Given the description of an element on the screen output the (x, y) to click on. 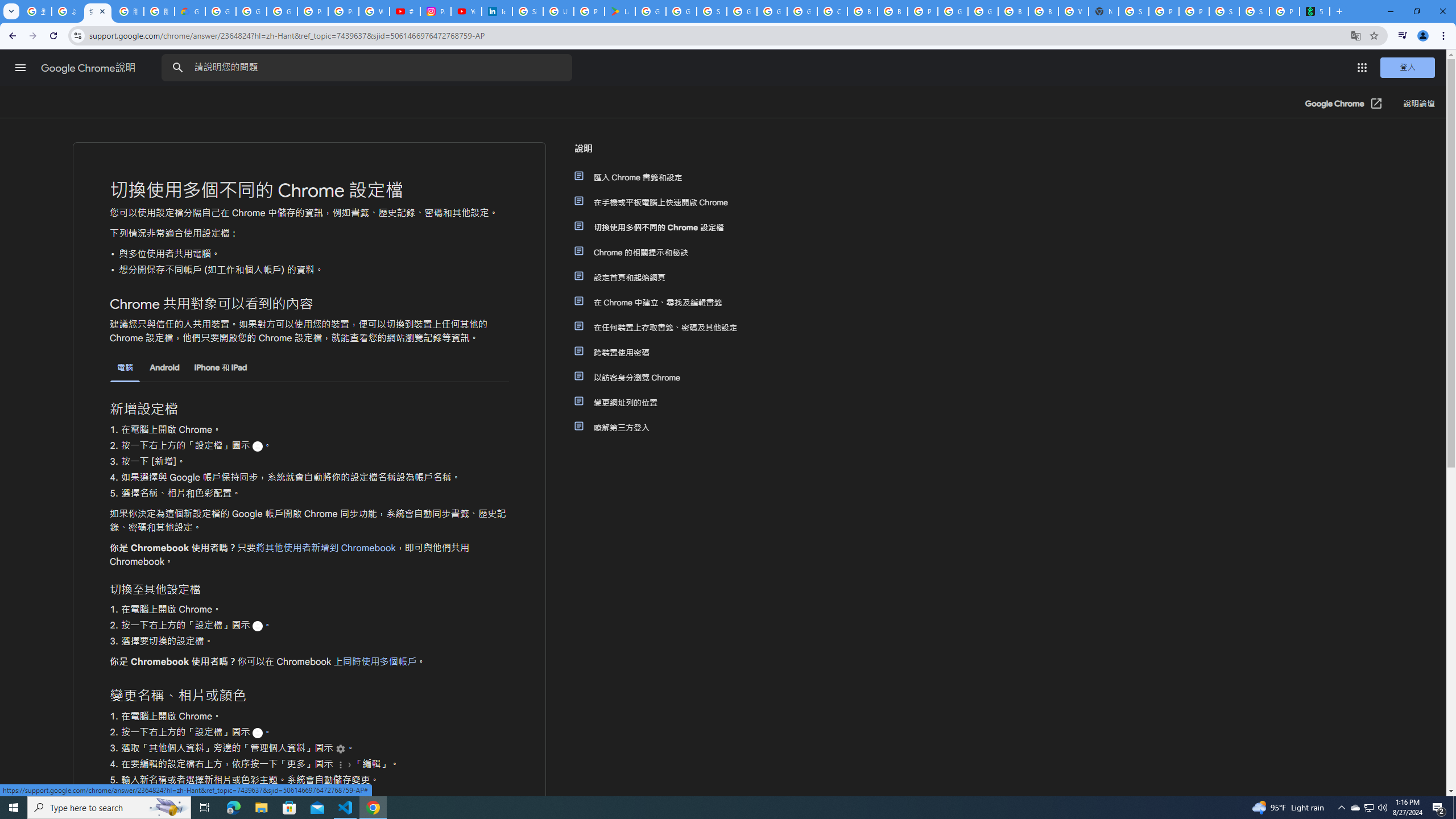
Google Cloud Platform (982, 11)
